Given the description of an element on the screen output the (x, y) to click on. 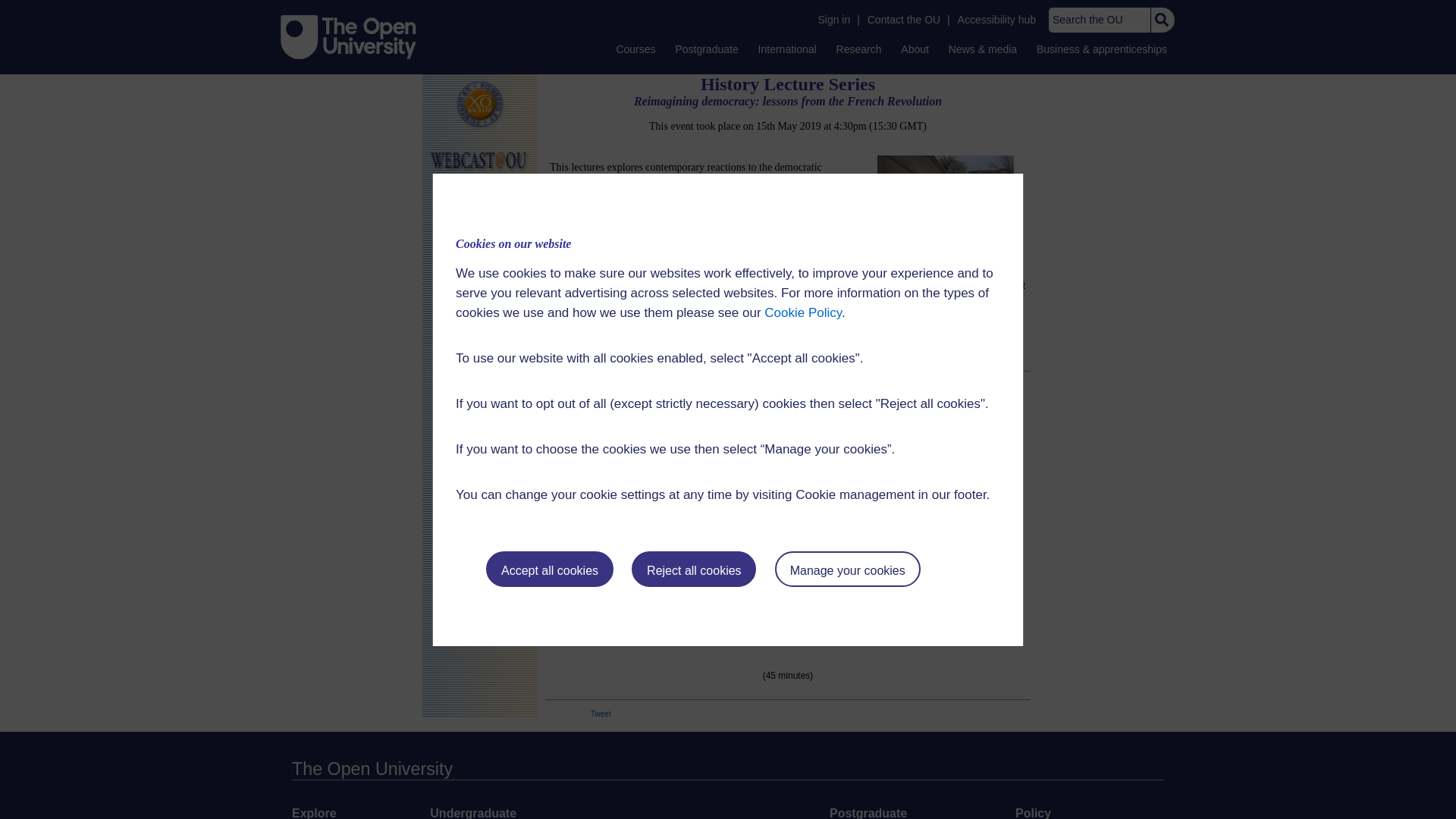
International (787, 49)
Sign in (833, 19)
About (914, 49)
Postgraduate (705, 49)
The Open University (348, 36)
Cookie Policy (802, 312)
Accessibility hub (997, 19)
Accept all cookies (549, 569)
Manage your cookies (847, 569)
Research (858, 49)
Search (1161, 19)
Reject all cookies (693, 569)
Contact the OU (903, 19)
Search (1161, 19)
